Given the description of an element on the screen output the (x, y) to click on. 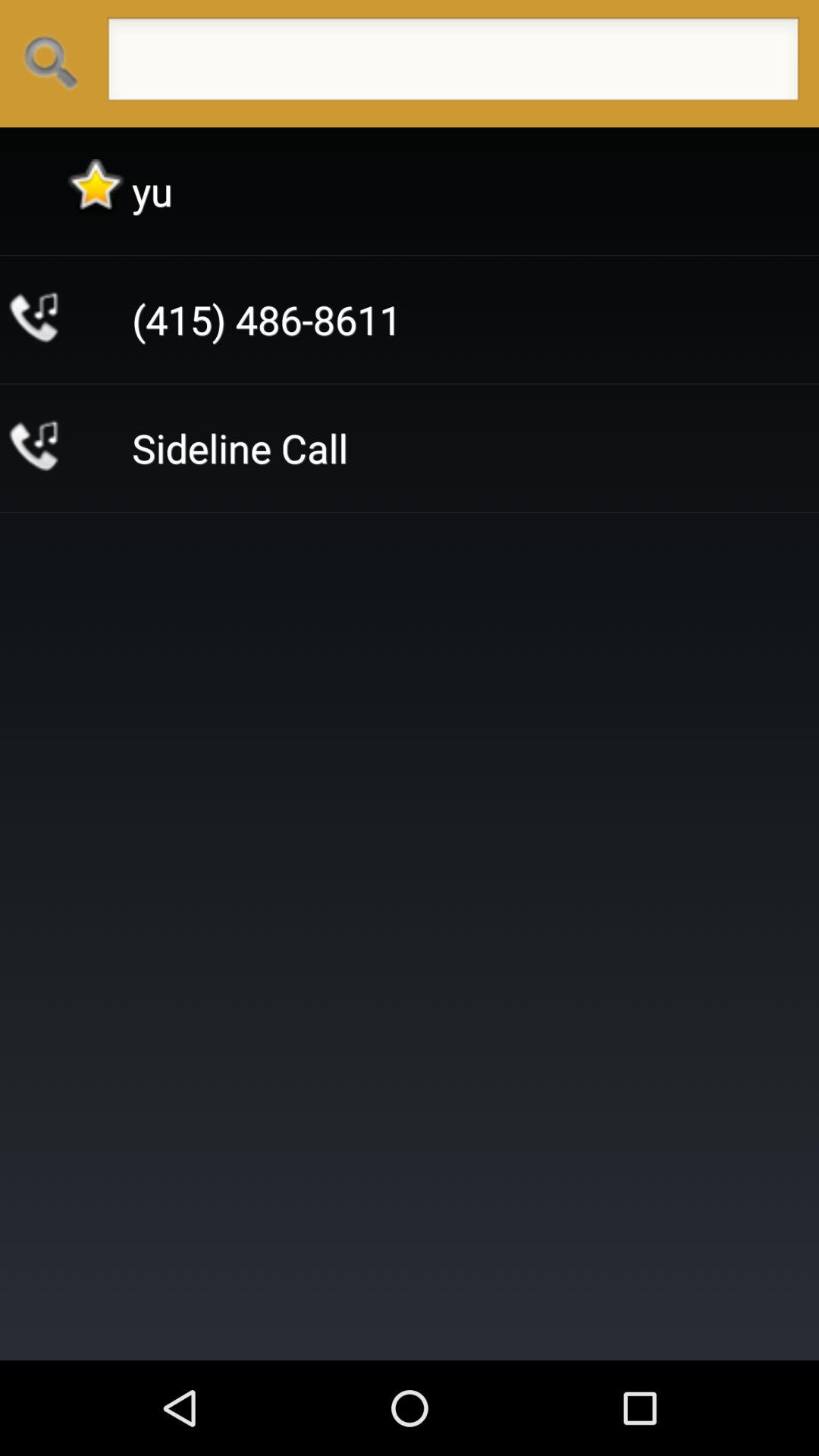
turn on the (415) 486-8611 (266, 319)
